Given the description of an element on the screen output the (x, y) to click on. 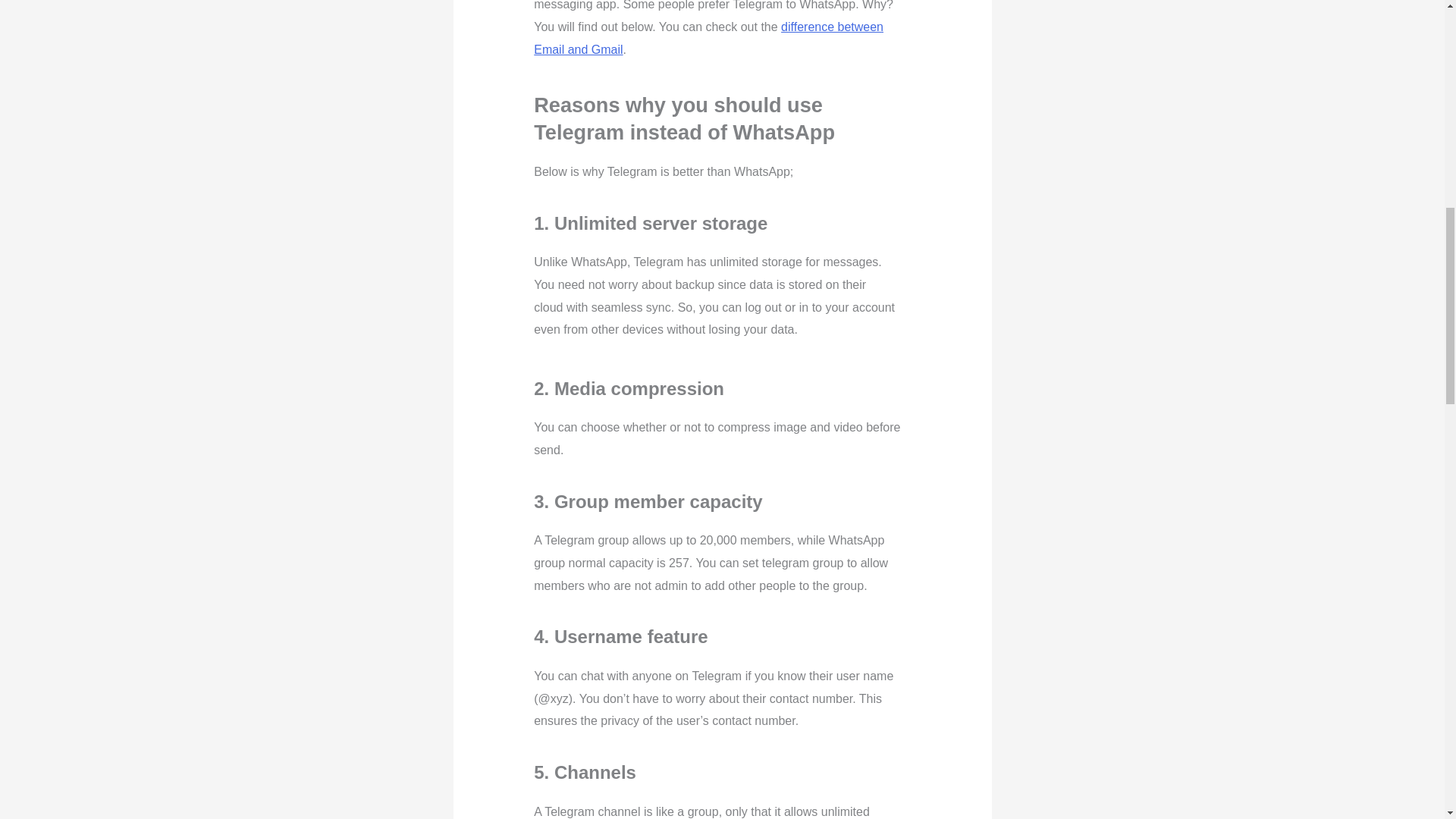
Readability may be enhanced by removing this (729, 105)
Readability may be enhanced by removing this (648, 105)
difference between Email and Gmail (708, 38)
